Given the description of an element on the screen output the (x, y) to click on. 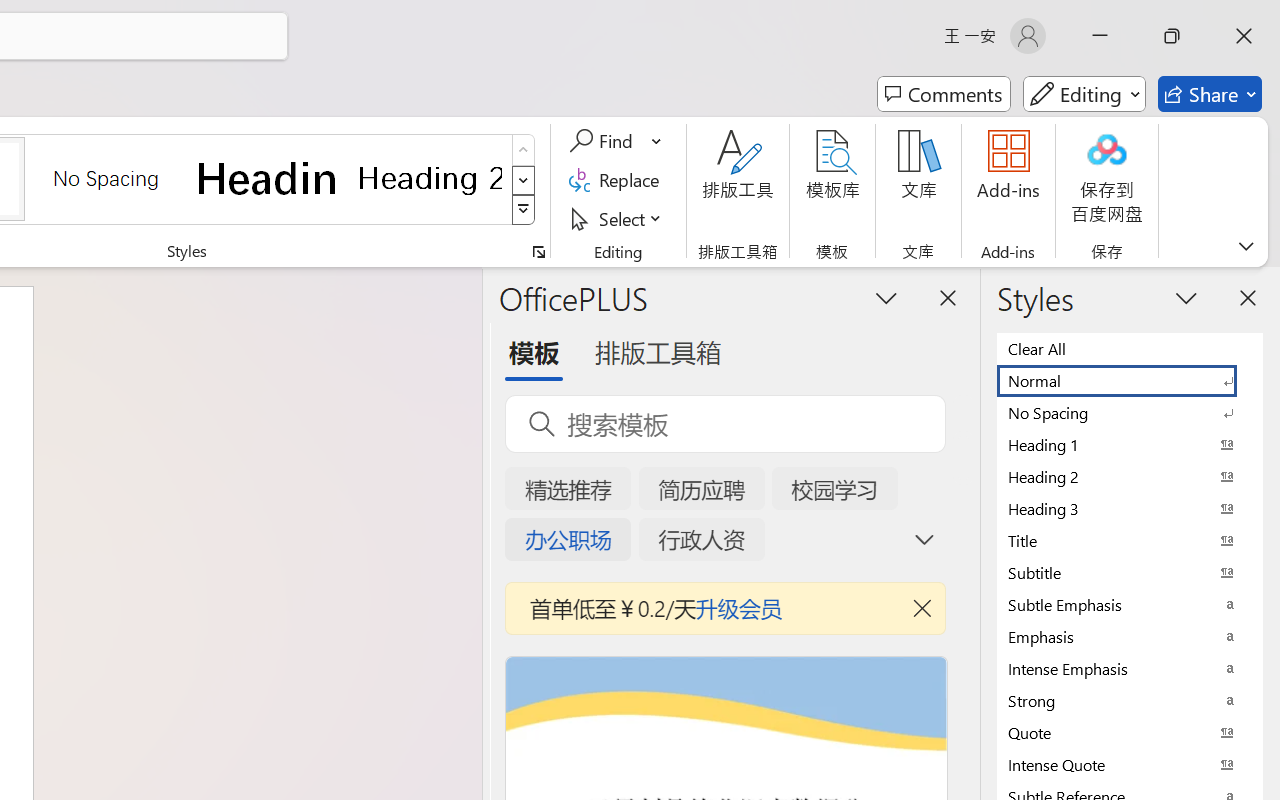
Heading 3 (1130, 508)
Replace... (617, 179)
Intense Quote (1130, 764)
Find (616, 141)
Heading 1 (267, 178)
Class: NetUIImage (523, 210)
Share (1210, 94)
Subtitle (1130, 572)
Task Pane Options (886, 297)
More Options (657, 141)
Subtle Emphasis (1130, 604)
